Given the description of an element on the screen output the (x, y) to click on. 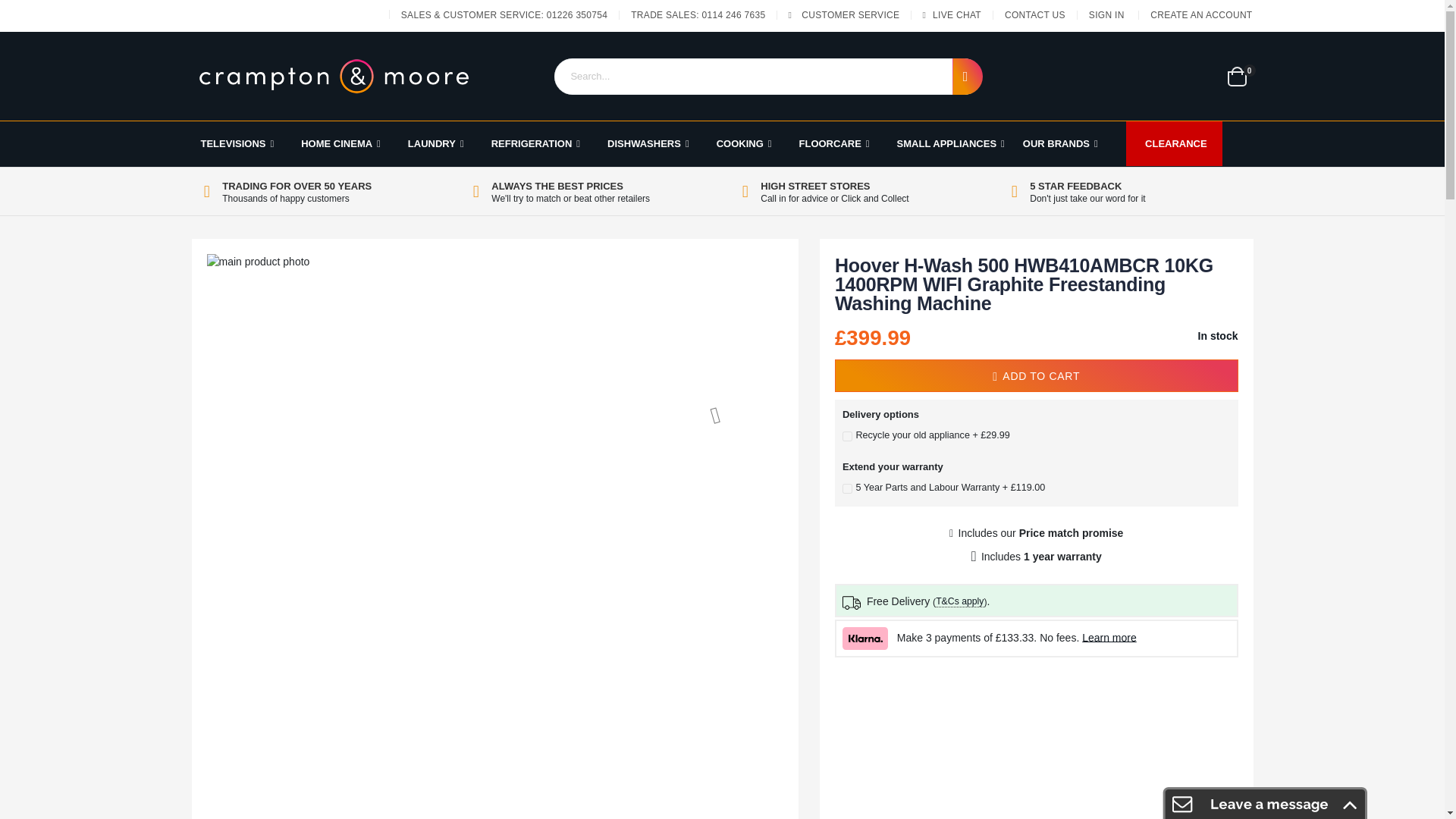
22256 (847, 488)
Home Cinema (341, 144)
CONTACT US (1034, 15)
CUSTOMER SERVICE (850, 15)
LIVE CHAT (956, 15)
28480 (847, 435)
Televisions (236, 144)
CREATE AN ACCOUNT (1195, 15)
HOME CINEMA (341, 144)
